Given the description of an element on the screen output the (x, y) to click on. 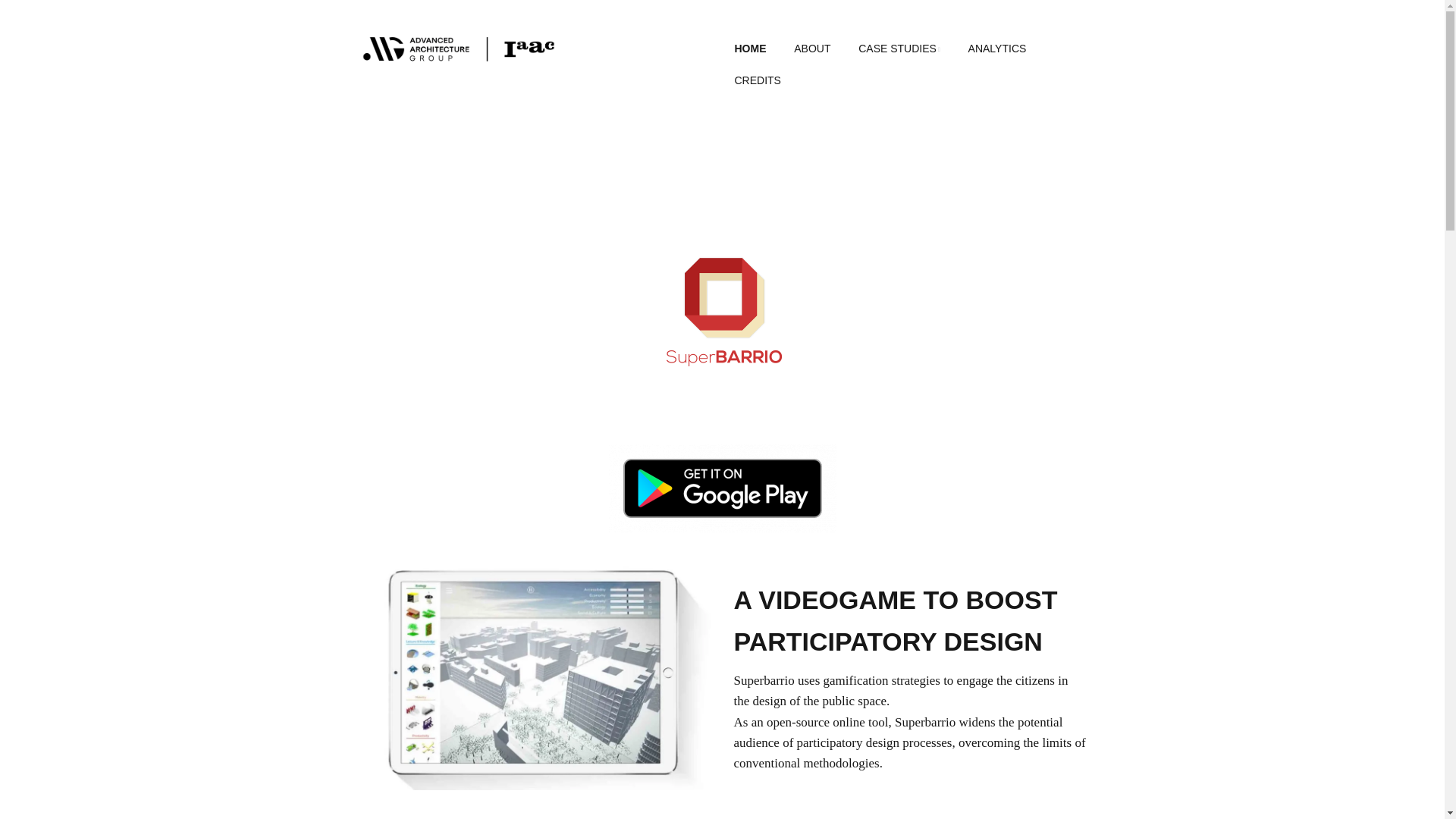
Superbarrio-Cover (534, 672)
ANALYTICS (997, 49)
CREDITS (757, 81)
ABOUT (812, 49)
CASE STUDIES (898, 49)
Get Superbarrio on google play (721, 488)
HOME (749, 49)
